Given the description of an element on the screen output the (x, y) to click on. 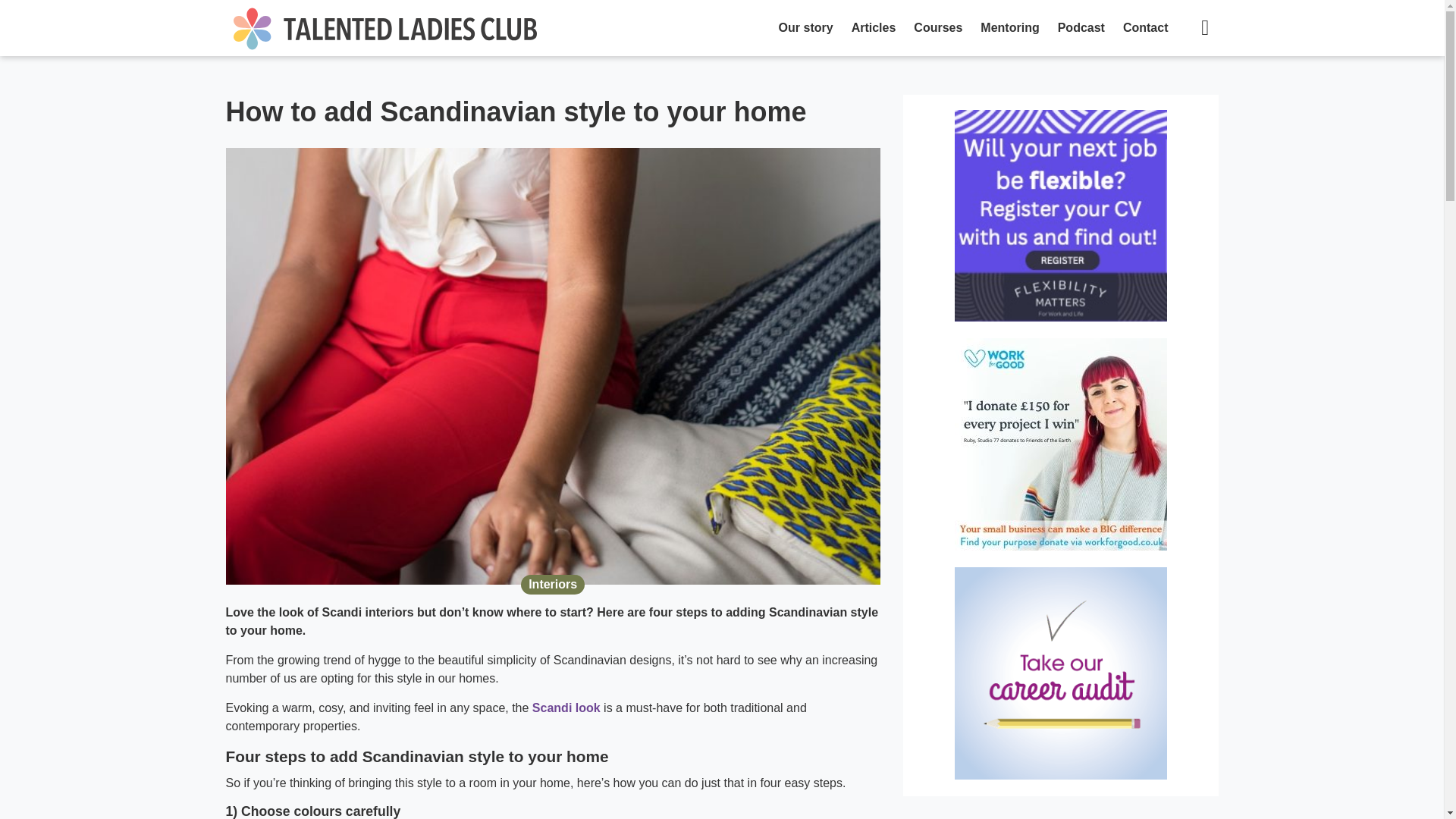
Mentoring (1009, 28)
Articles (874, 28)
Contact (1145, 28)
Podcast (1080, 28)
Our story (806, 28)
Courses (937, 28)
